Given the description of an element on the screen output the (x, y) to click on. 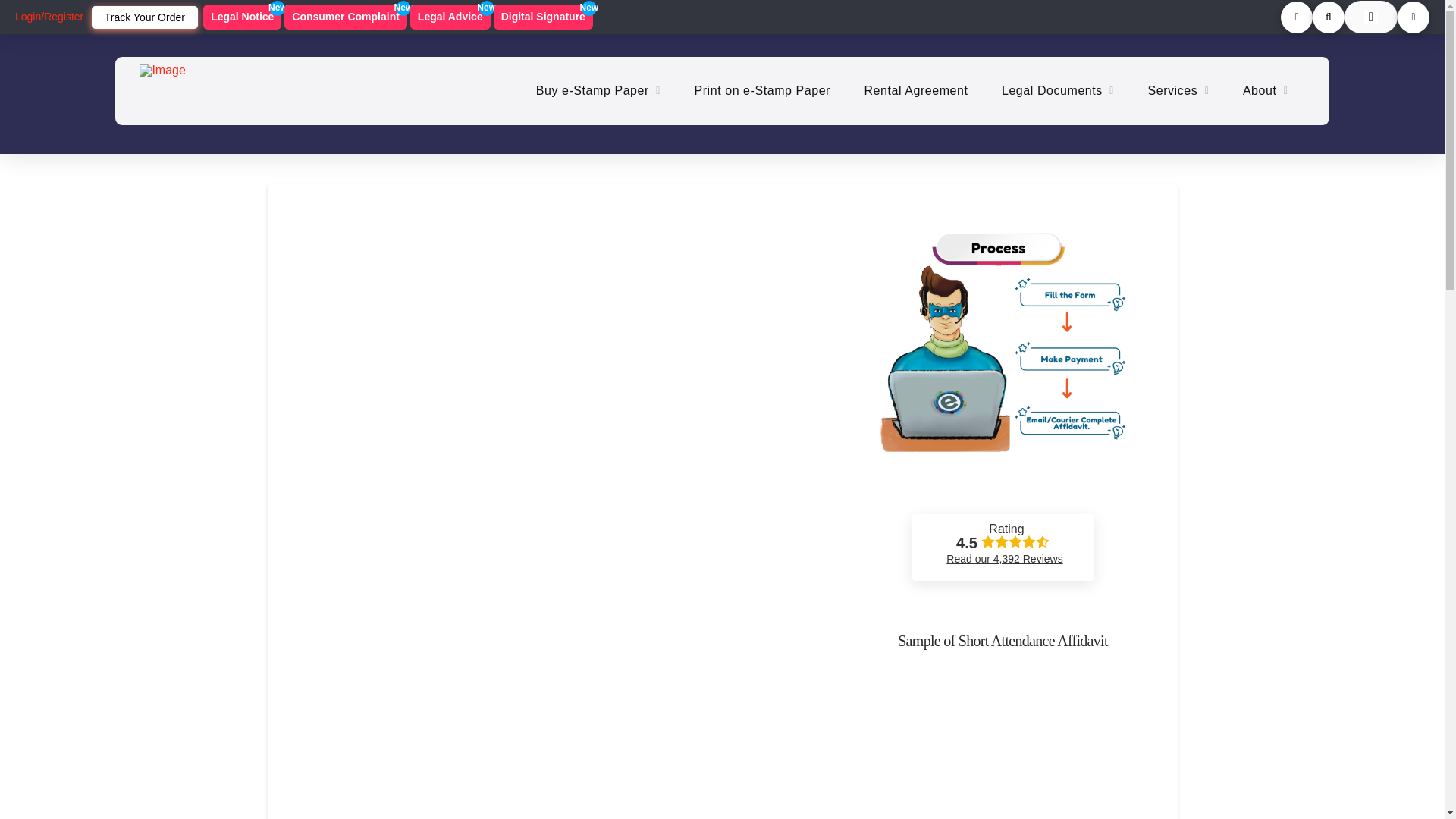
Buy e-Stamp Paper (597, 90)
Track Your Order (242, 17)
Affidavit Process at edrafter (450, 17)
Rental Agreement (144, 16)
Print on e-Stamp Paper (1002, 358)
Legal Documents (916, 90)
